Given the description of an element on the screen output the (x, y) to click on. 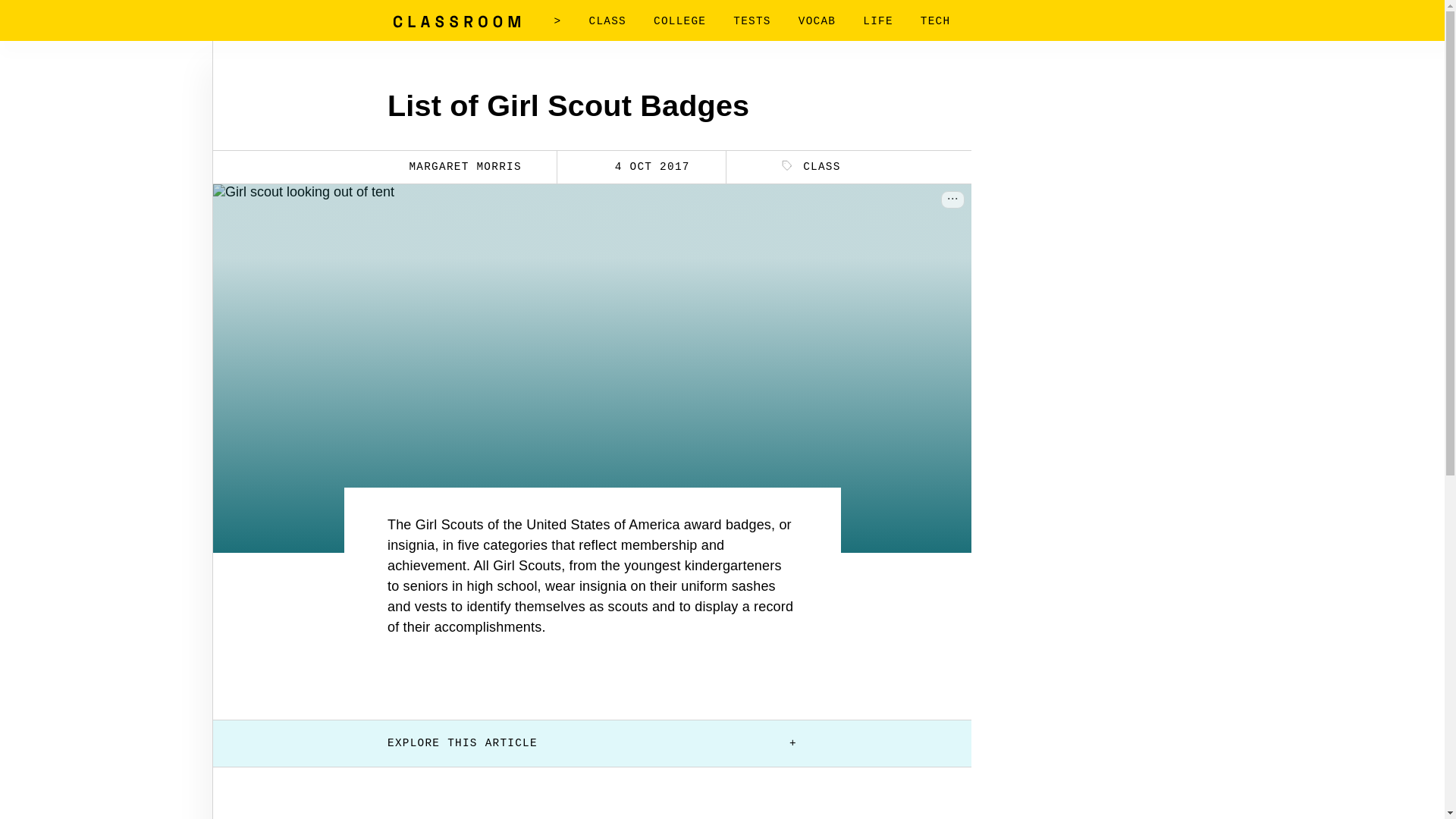
CLASS (607, 21)
TECH (935, 21)
LIFE (878, 21)
TESTS (751, 21)
COLLEGE (679, 21)
VOCAB (816, 21)
CLASS (811, 167)
